Given the description of an element on the screen output the (x, y) to click on. 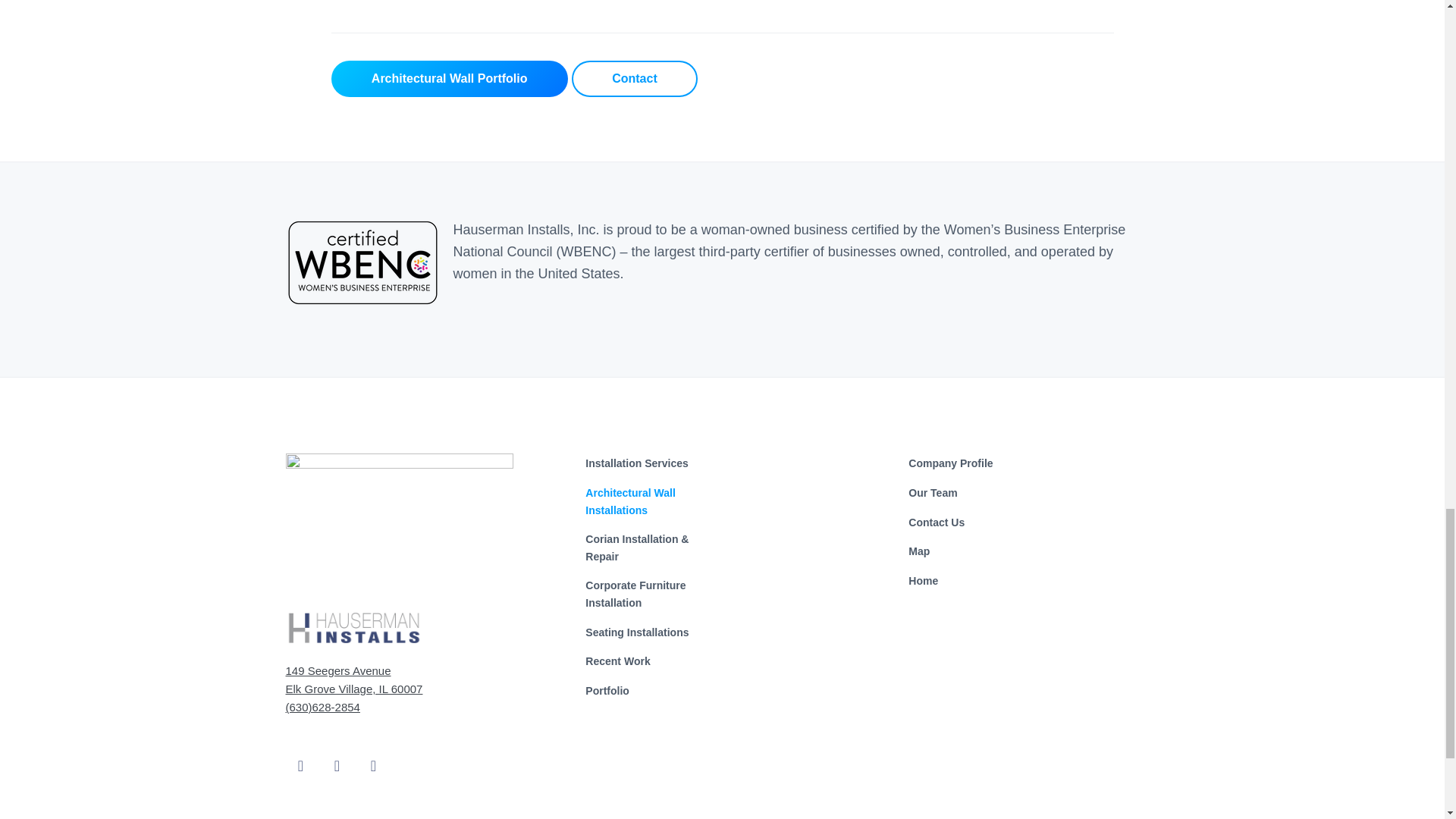
Facebook (300, 753)
Instagram (336, 753)
LinkedIn (373, 753)
